Given the description of an element on the screen output the (x, y) to click on. 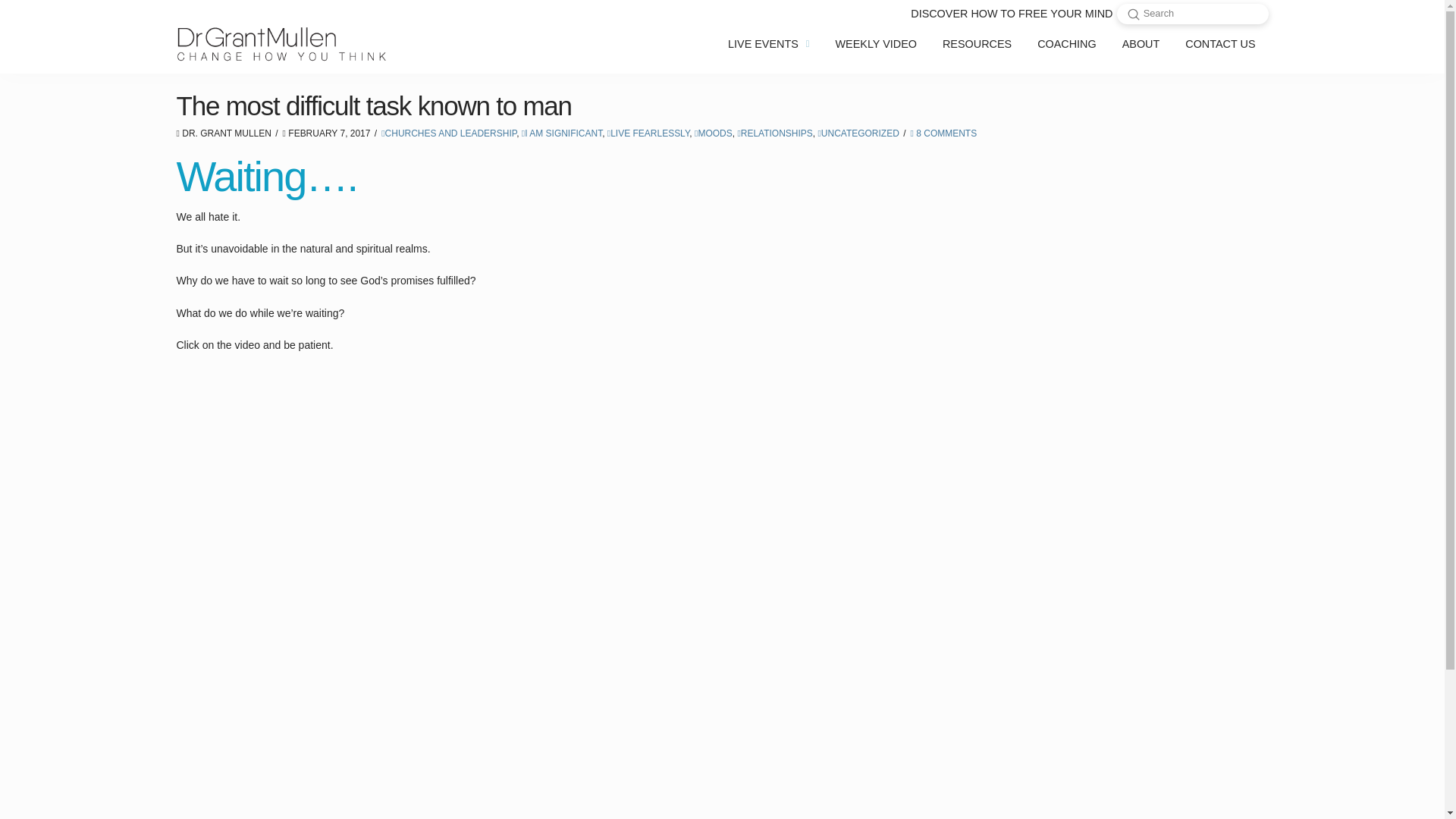
I AM SIGNIFICANT (561, 132)
UNCATEGORIZED (857, 132)
RESOURCES (977, 44)
CONTACT US (1220, 44)
MOODS (713, 132)
DISCOVER HOW TO FREE YOUR MIND (1011, 14)
WEEKLY VIDEO (876, 44)
LIVE EVENTS (768, 44)
CHURCHES AND LEADERSHIP (448, 132)
